Given the description of an element on the screen output the (x, y) to click on. 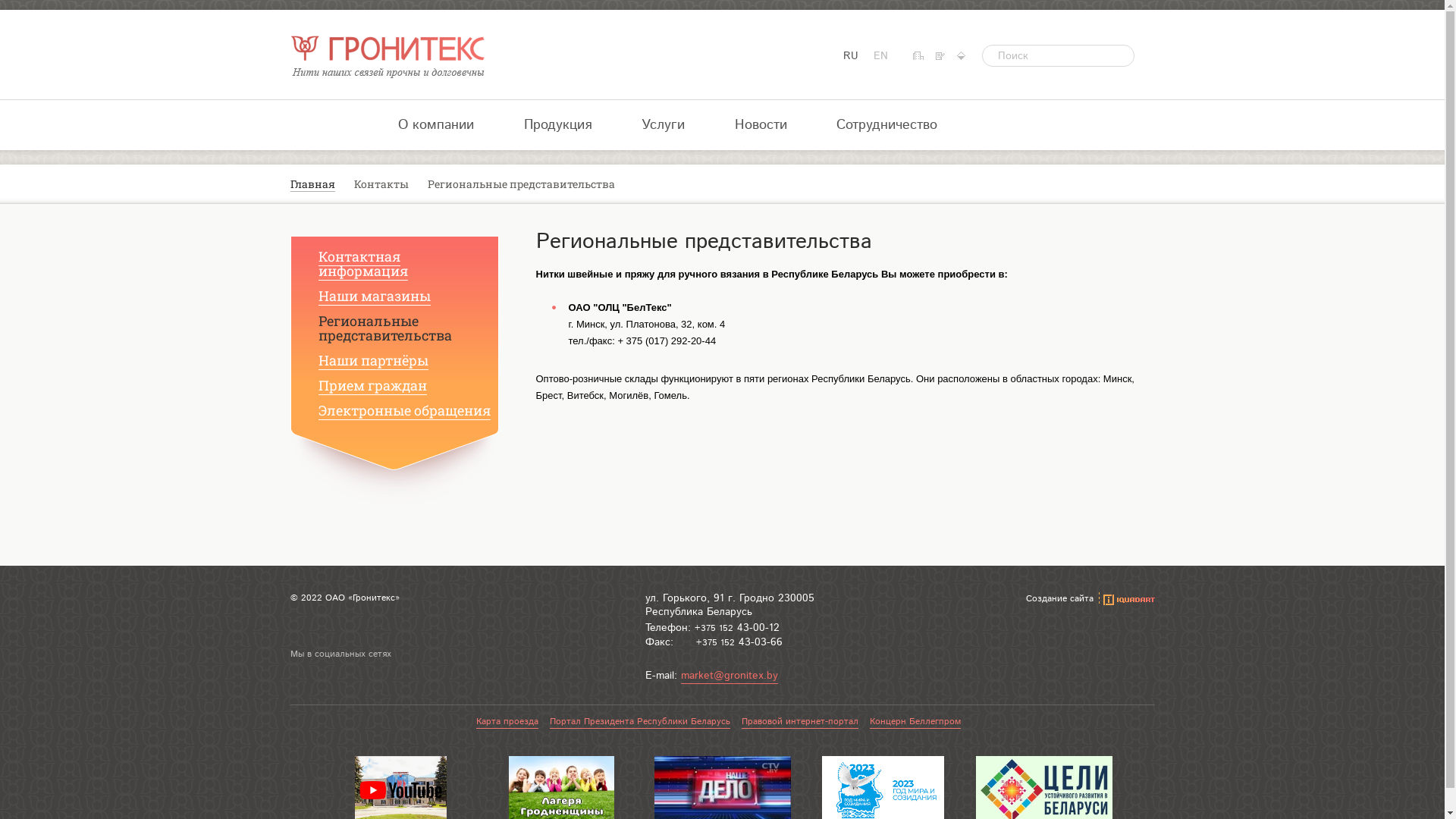
Previous Element type: text (296, 790)
EN Element type: text (881, 55)
market@gronitex.by Element type: text (729, 676)
Next Element type: text (1146, 790)
